Given the description of an element on the screen output the (x, y) to click on. 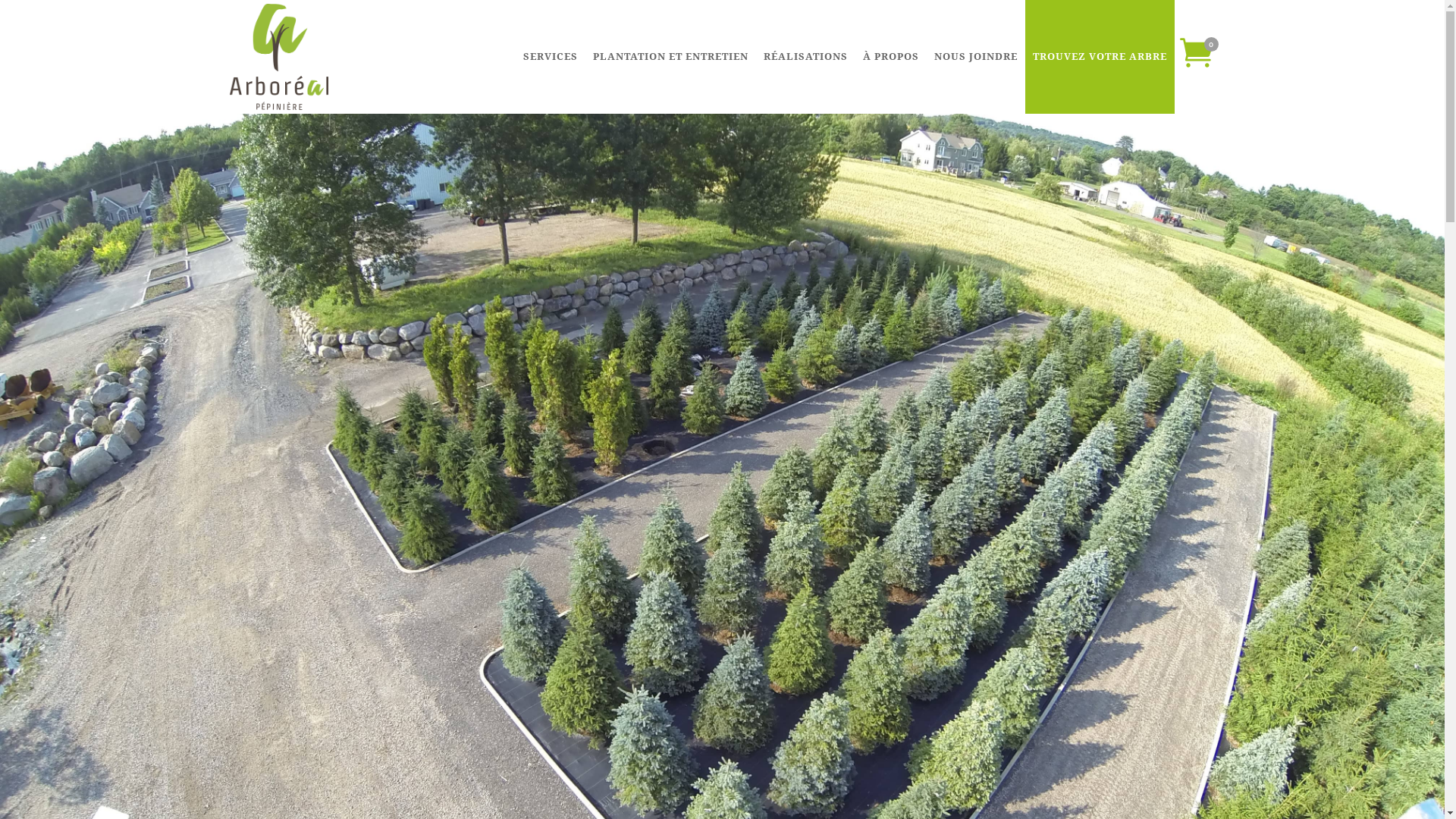
TROUVEZ VOTRE ARBRE Element type: text (1099, 56)
SERVICES Element type: text (550, 56)
PLANTATION ET ENTRETIEN Element type: text (670, 56)
0 Element type: text (1196, 56)
NOUS JOINDRE Element type: text (975, 56)
